Given the description of an element on the screen output the (x, y) to click on. 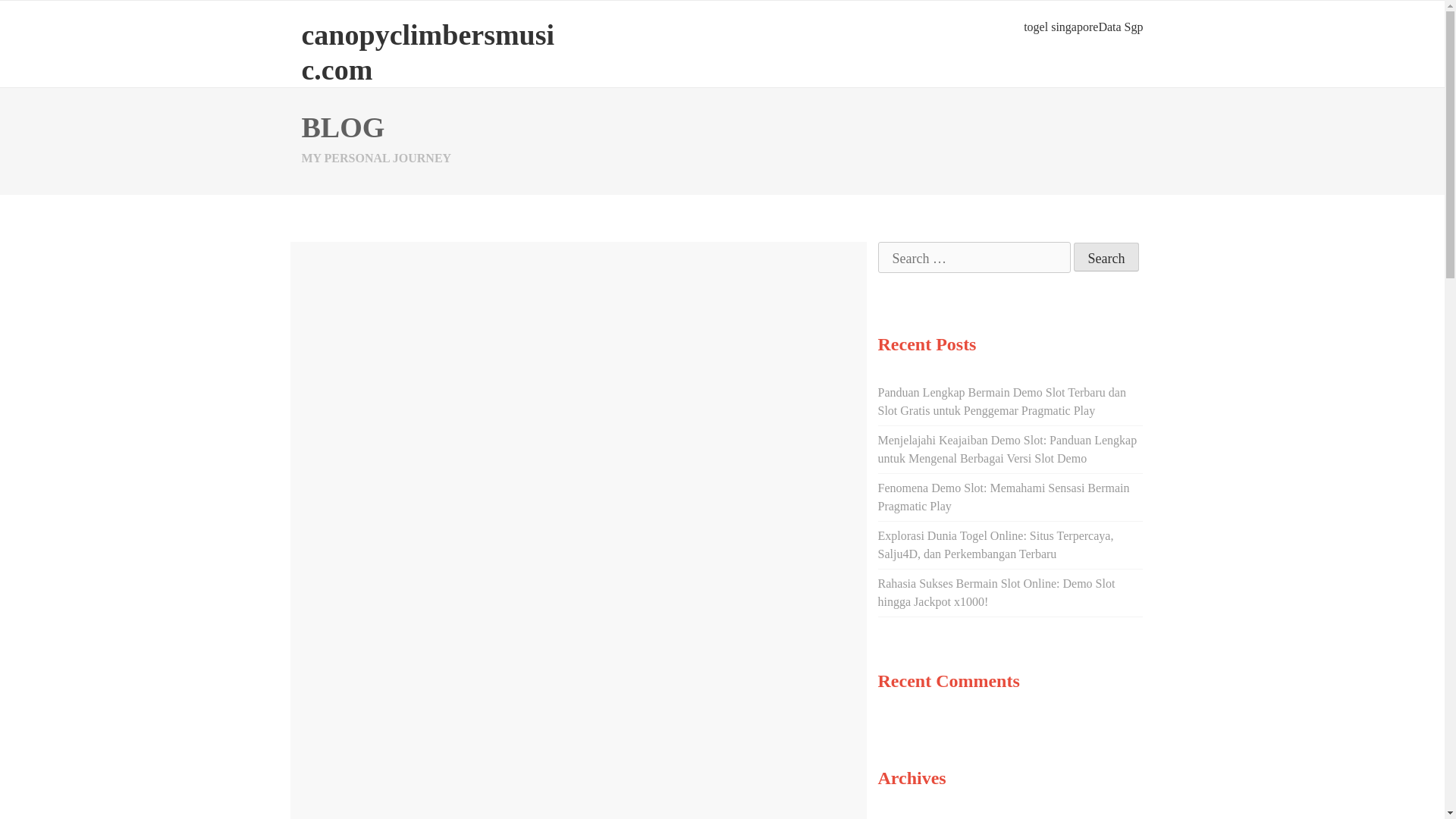
Search (1107, 256)
canopyclimbersmusic.com (427, 51)
How to Play Online Casino Games (513, 306)
Search (1107, 256)
Data Sgp (1119, 27)
togel online (633, 486)
Fenomena Demo Slot: Memahami Sensasi Bermain Pragmatic Play (1003, 496)
togel singapore (1060, 27)
Search (1107, 256)
